Given the description of an element on the screen output the (x, y) to click on. 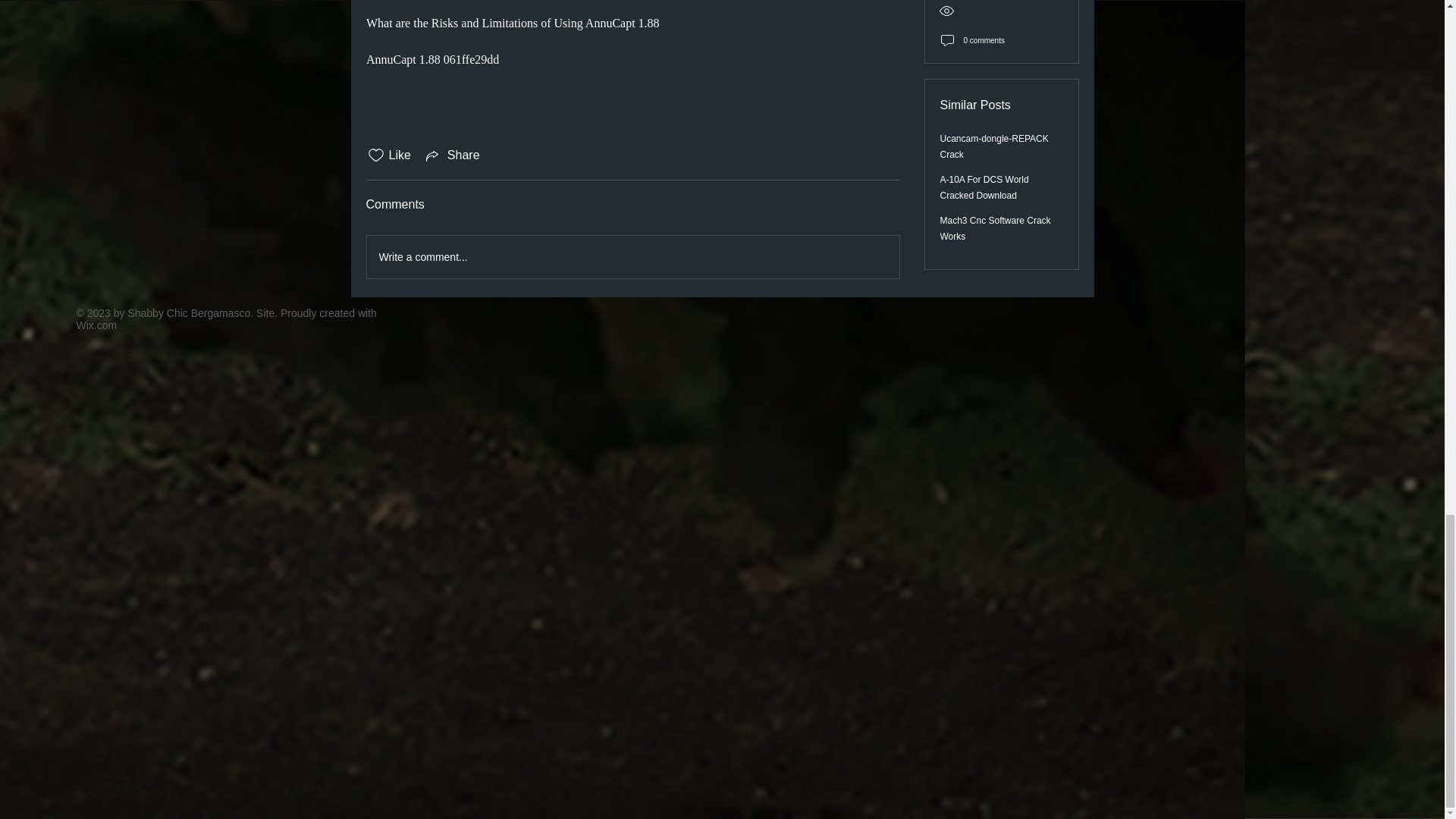
Facebook Like (538, 312)
Write a comment... (632, 256)
Wix.com (95, 325)
Share (451, 155)
